Given the description of an element on the screen output the (x, y) to click on. 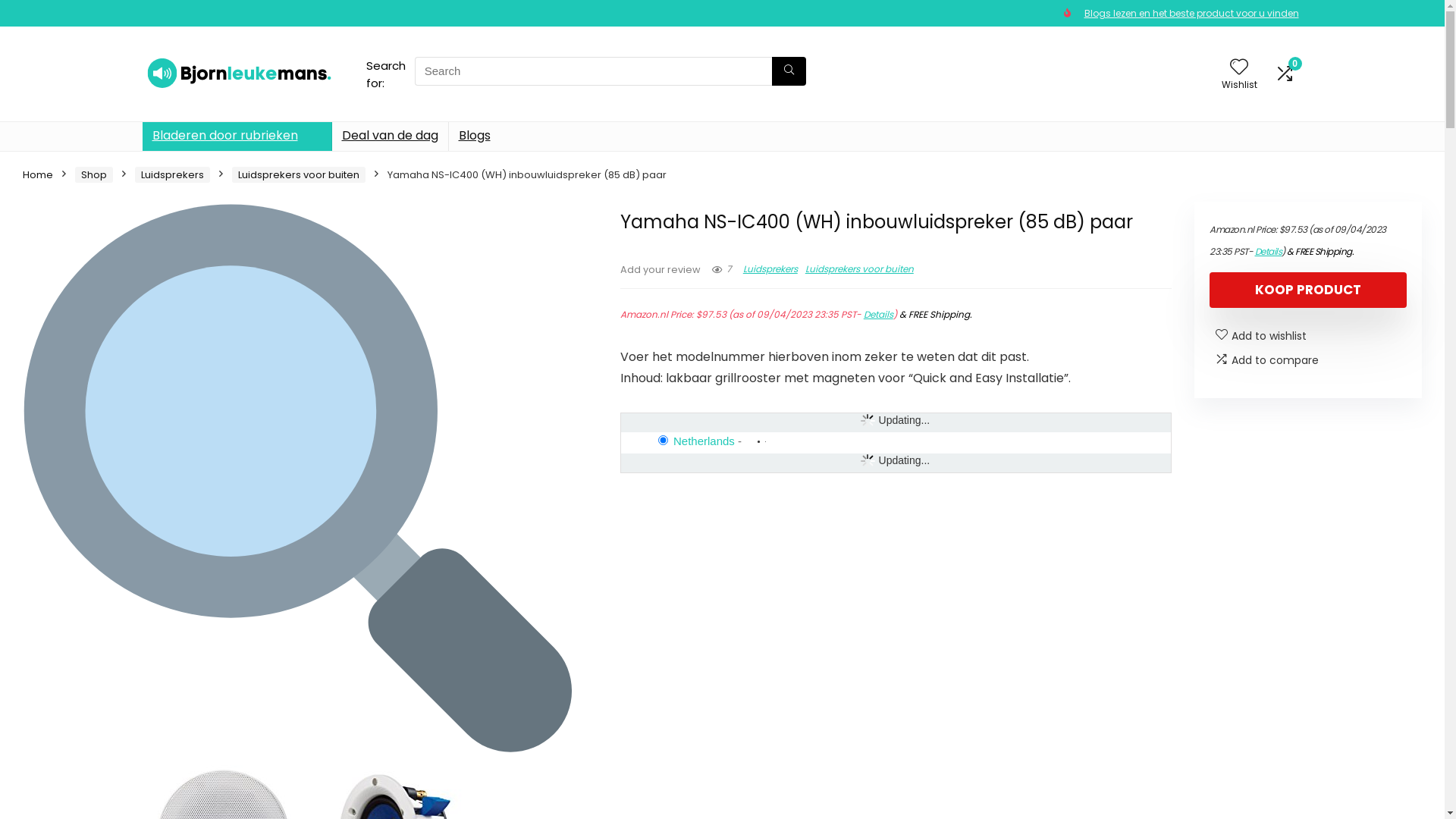
Luidsprekers voor buiten Element type: text (859, 268)
Luidsprekers voor buiten Element type: text (298, 174)
Bladeren door rubrieken Element type: text (236, 136)
Luidsprekers Element type: text (172, 174)
Details Element type: text (1267, 250)
Netherlands Element type: text (703, 440)
Blogs lezen en het beste product voor u vinden Element type: text (1191, 12)
Blogs Element type: text (474, 136)
KOOP PRODUCT Element type: text (1307, 289)
Shop Element type: text (93, 174)
Home Element type: text (37, 174)
Deal van de dag Element type: text (390, 136)
Luidsprekers Element type: text (770, 268)
Details Element type: text (878, 313)
